Given the description of an element on the screen output the (x, y) to click on. 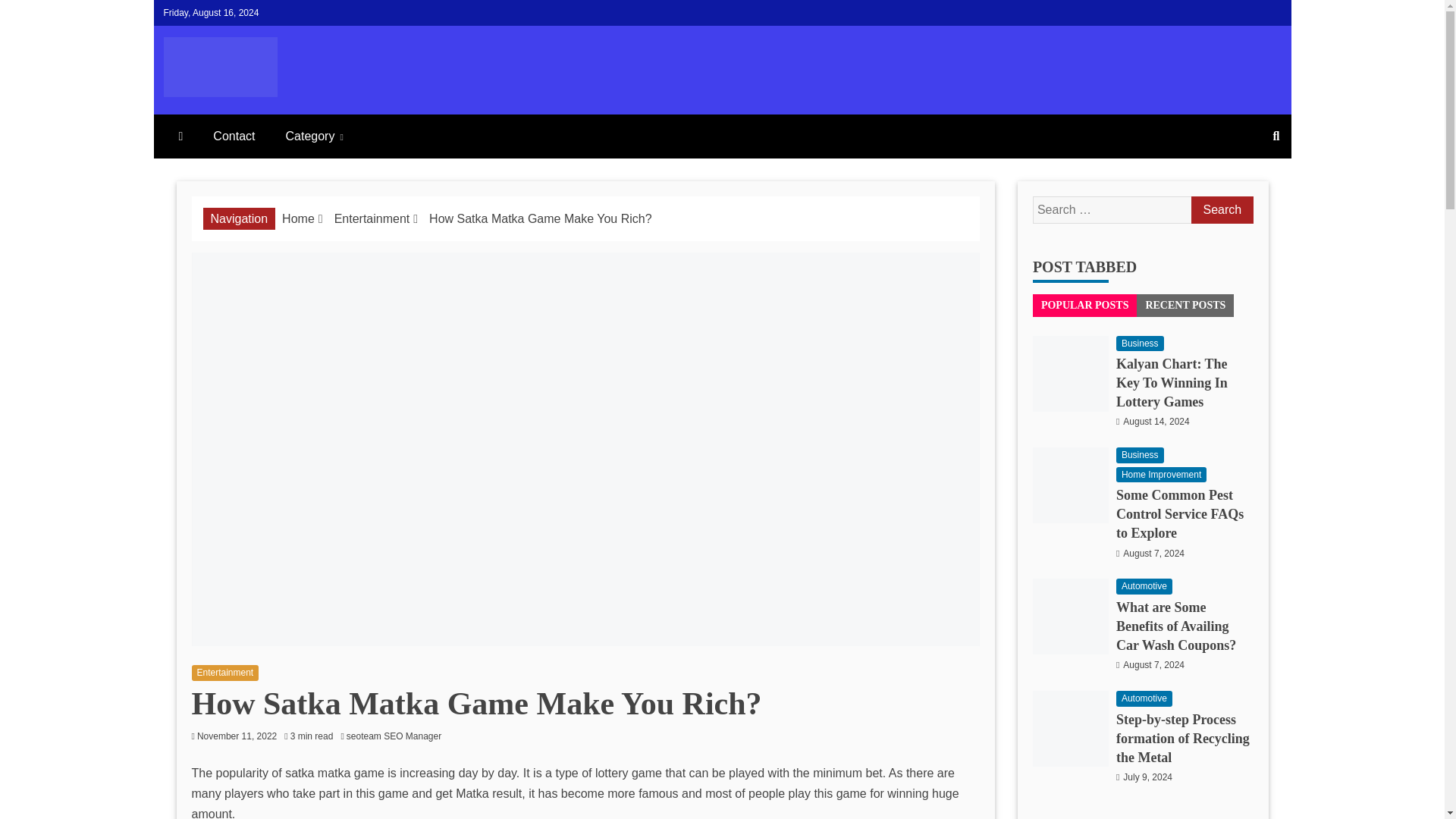
Contact (233, 136)
Home (298, 218)
Search (1221, 209)
Entertainment (372, 218)
Contact (233, 136)
BlogBiz (219, 121)
Category (313, 136)
Category (313, 136)
Entertainment (224, 672)
November 11, 2022 (236, 736)
